Given the description of an element on the screen output the (x, y) to click on. 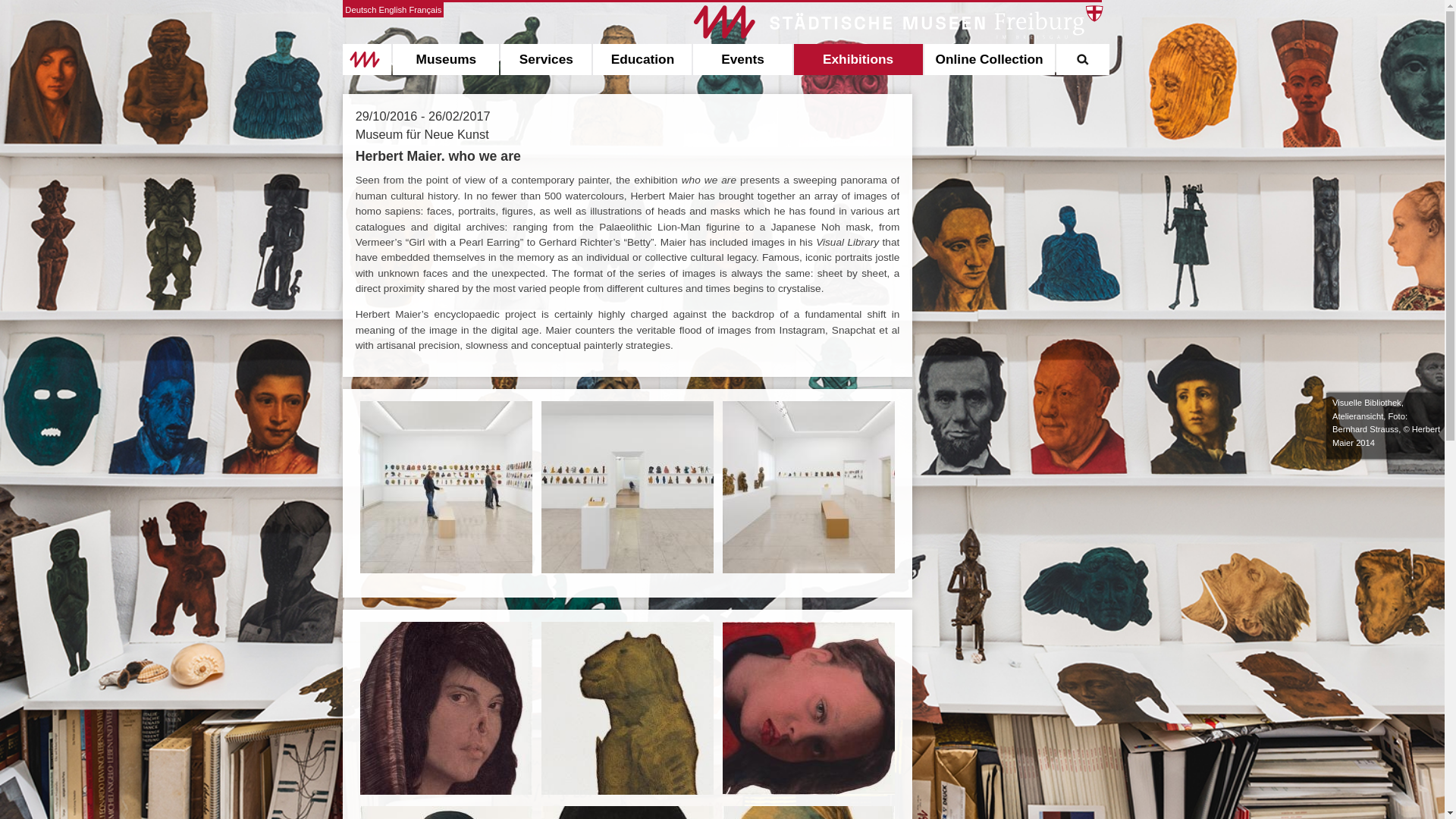
Show original picture (627, 790)
Services (545, 60)
Home (366, 60)
Show original picture (808, 790)
Deutsch (360, 9)
Museums (446, 60)
zur Startseite (897, 28)
Education (641, 60)
Show original picture (627, 569)
Show original picture (445, 569)
Exhibitions (858, 60)
Show original picture (445, 790)
Events (742, 60)
Show original picture (808, 569)
zur Startseite (366, 60)
